Given the description of an element on the screen output the (x, y) to click on. 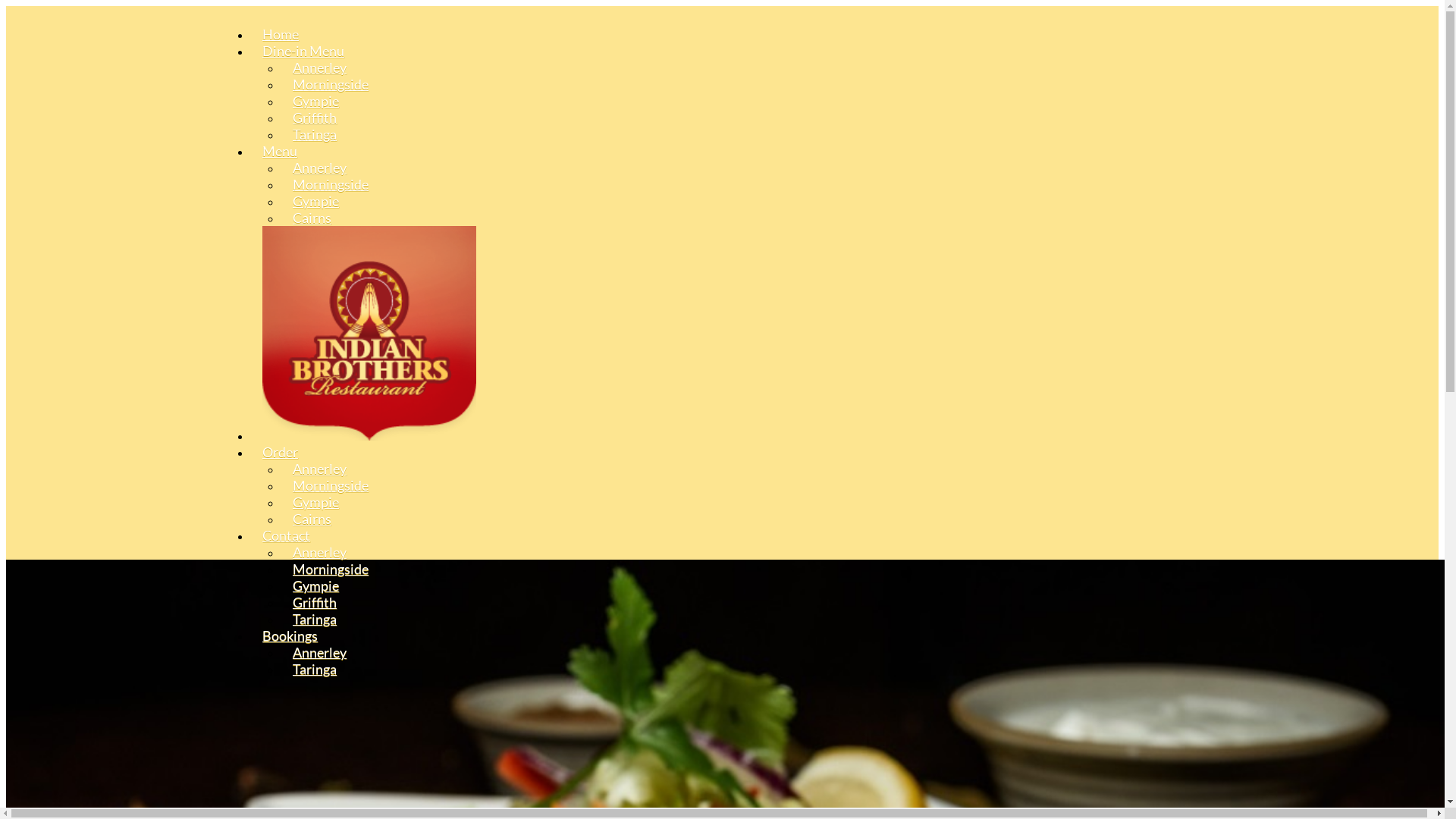
Order Element type: text (280, 451)
Annerley Element type: text (319, 652)
Annerley Element type: text (319, 551)
Taringa Element type: text (314, 134)
Contact Element type: text (286, 535)
Gympie Element type: text (315, 100)
Gympie Element type: text (315, 585)
Cairns Element type: text (311, 518)
Griffith Element type: text (314, 601)
Bookings Element type: text (290, 635)
Taringa Element type: text (314, 668)
Gympie Element type: text (315, 501)
Annerley Element type: text (319, 67)
Griffith Element type: text (314, 117)
Morningside Element type: text (330, 568)
Dine-in Menu Element type: text (303, 50)
Taringa Element type: text (314, 618)
Morningside Element type: text (330, 485)
Gympie Element type: text (315, 200)
Home Element type: text (280, 33)
Menu Element type: text (279, 150)
Morningside Element type: text (330, 184)
Annerley Element type: text (319, 167)
Annerley Element type: text (319, 468)
Morningside Element type: text (330, 84)
Cairns Element type: text (311, 217)
